Given the description of an element on the screen output the (x, y) to click on. 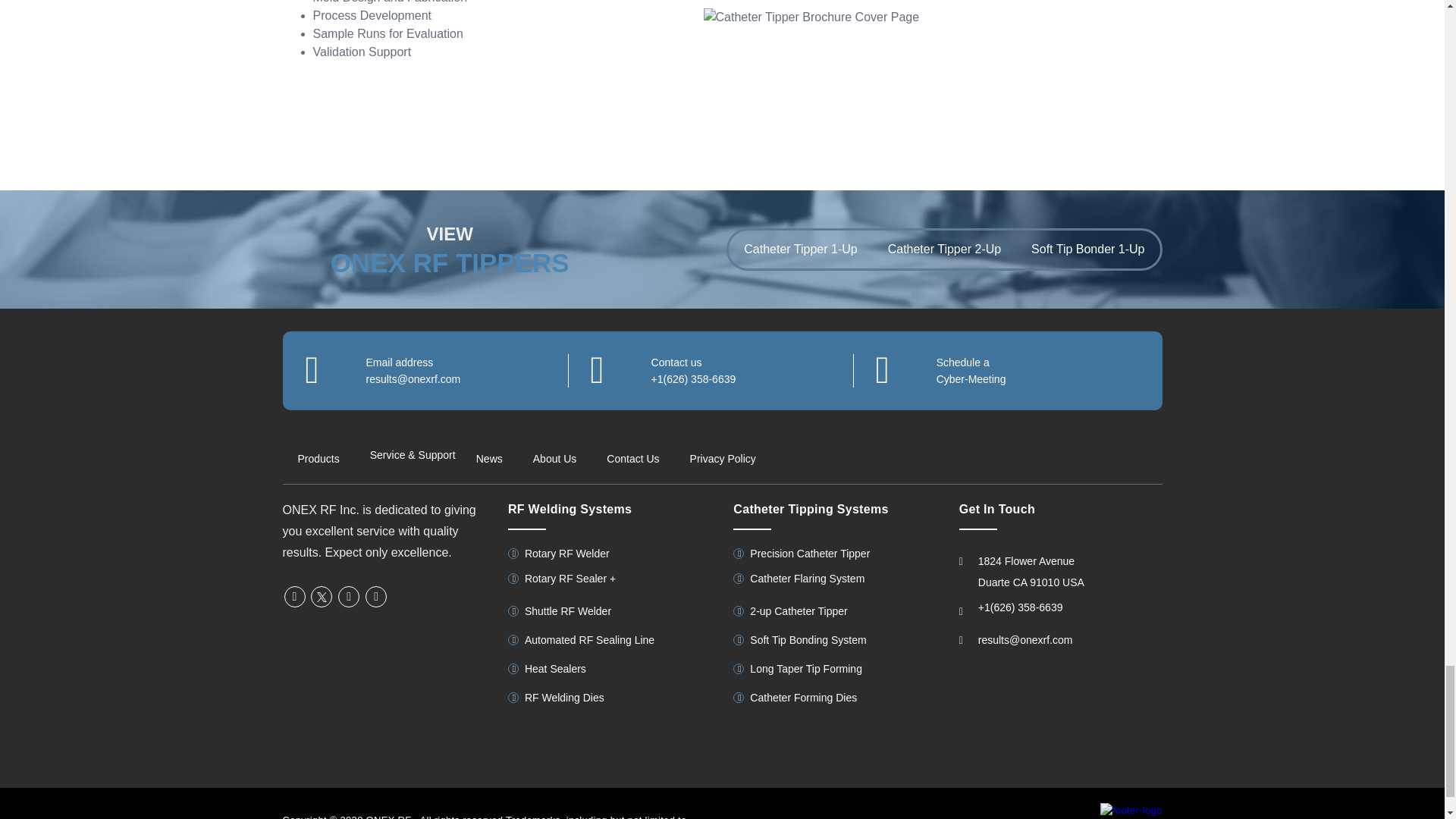
Pinterest (376, 595)
Cyber-Meeting (971, 378)
footer-logo (1130, 809)
Twitter (321, 595)
Linkedin (348, 595)
Products (317, 457)
Soft Tip Bonder 1-Up (1087, 249)
Facebook (293, 595)
Catheter Tipper 2-Up (944, 249)
Catheter Tipper 1-Up (800, 249)
